Given the description of an element on the screen output the (x, y) to click on. 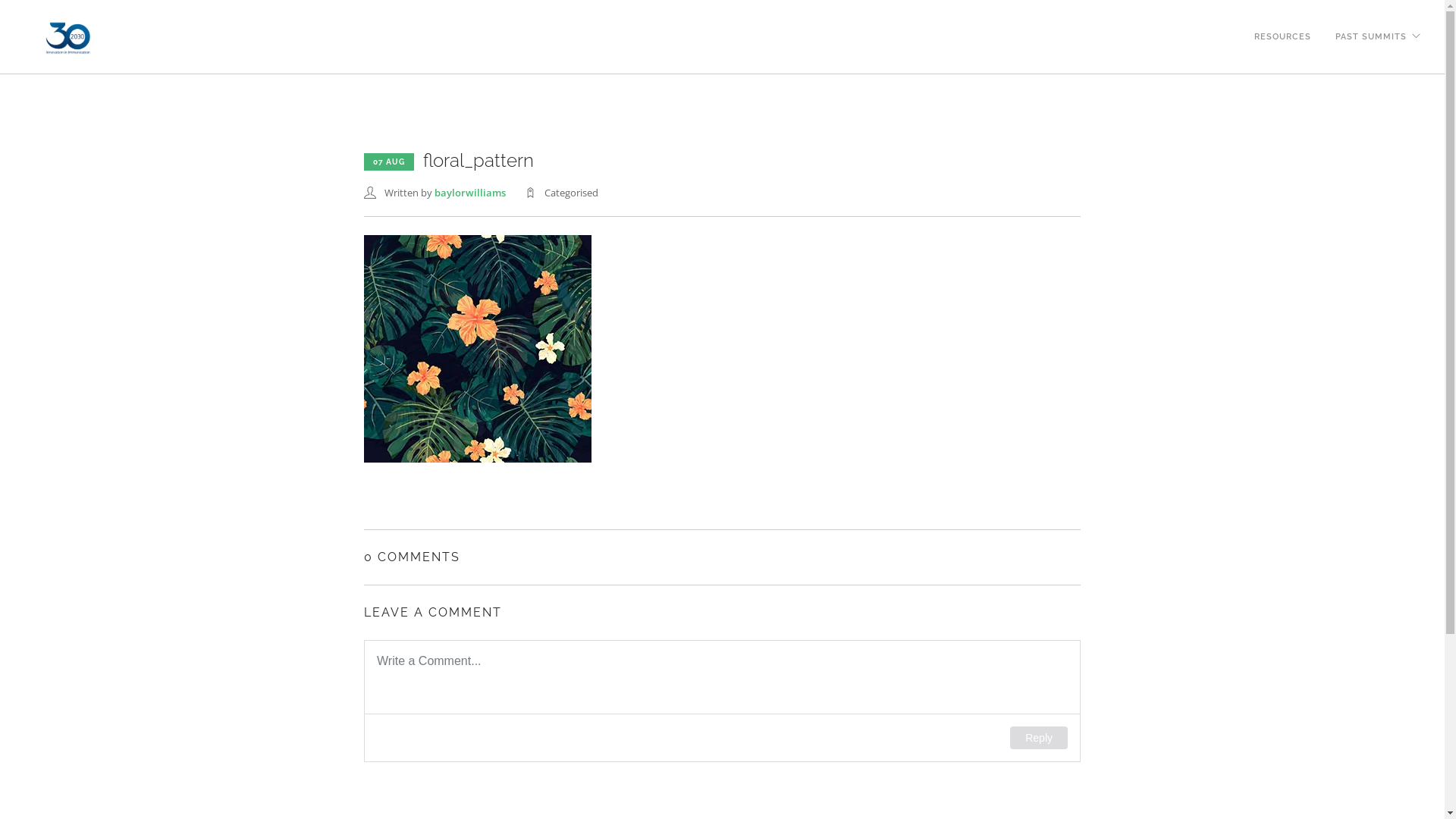
07 AUGfloral_pattern Element type: text (448, 161)
RESOURCES Element type: text (1282, 21)
Comment Form Element type: hover (722, 701)
PAST SUMMITS Element type: text (1370, 21)
baylorwilliams Element type: text (469, 192)
